Given the description of an element on the screen output the (x, y) to click on. 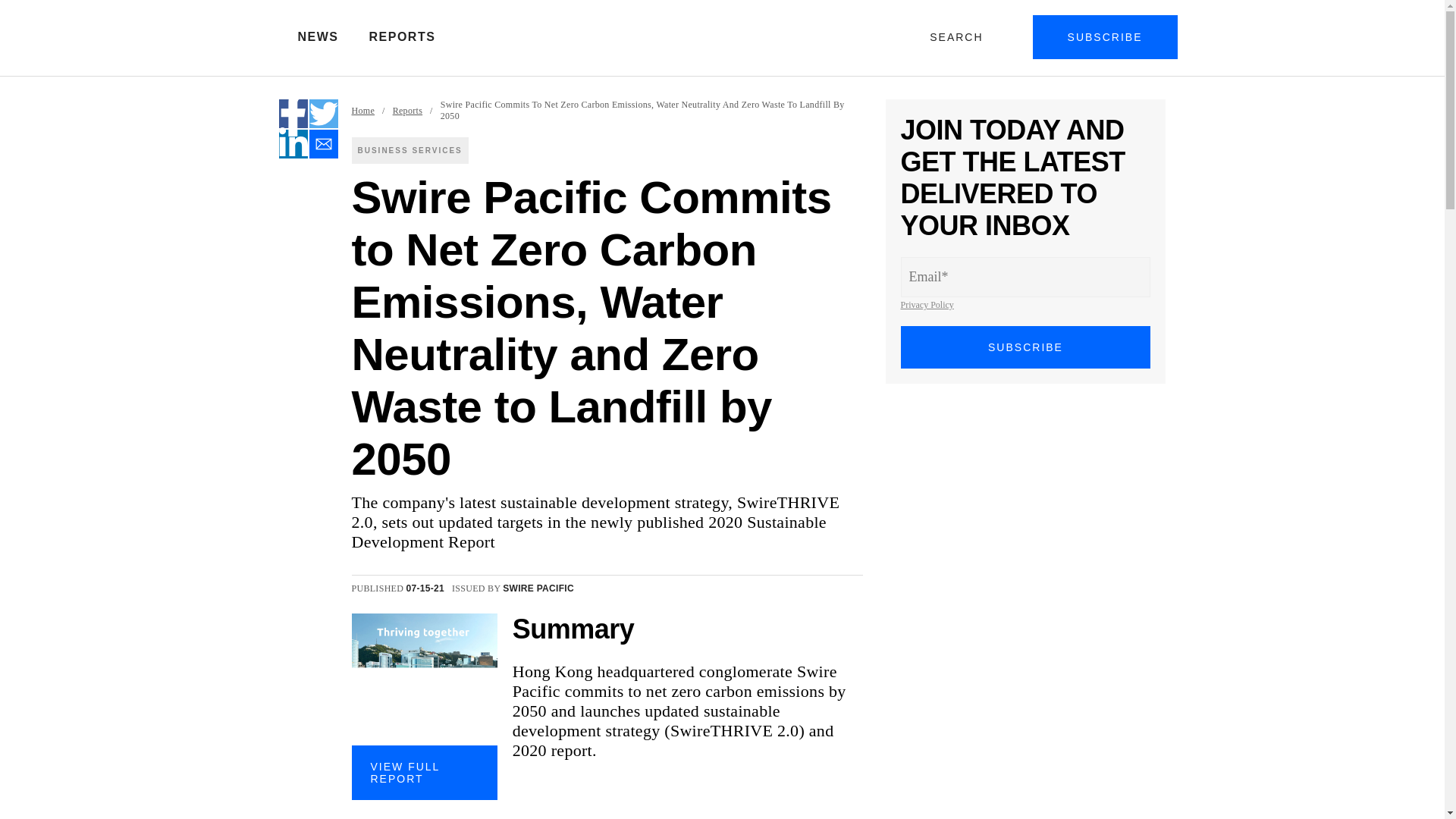
SUBSCRIBE (1104, 36)
Linkedin (293, 143)
VIEW FULL REPORT (424, 772)
BUSINESS SERVICES (410, 150)
Home (363, 110)
Twitter (322, 113)
Facebook (293, 113)
SUBSCRIBE (1026, 346)
SEARCH (959, 36)
Privacy Policy (927, 304)
